Given the description of an element on the screen output the (x, y) to click on. 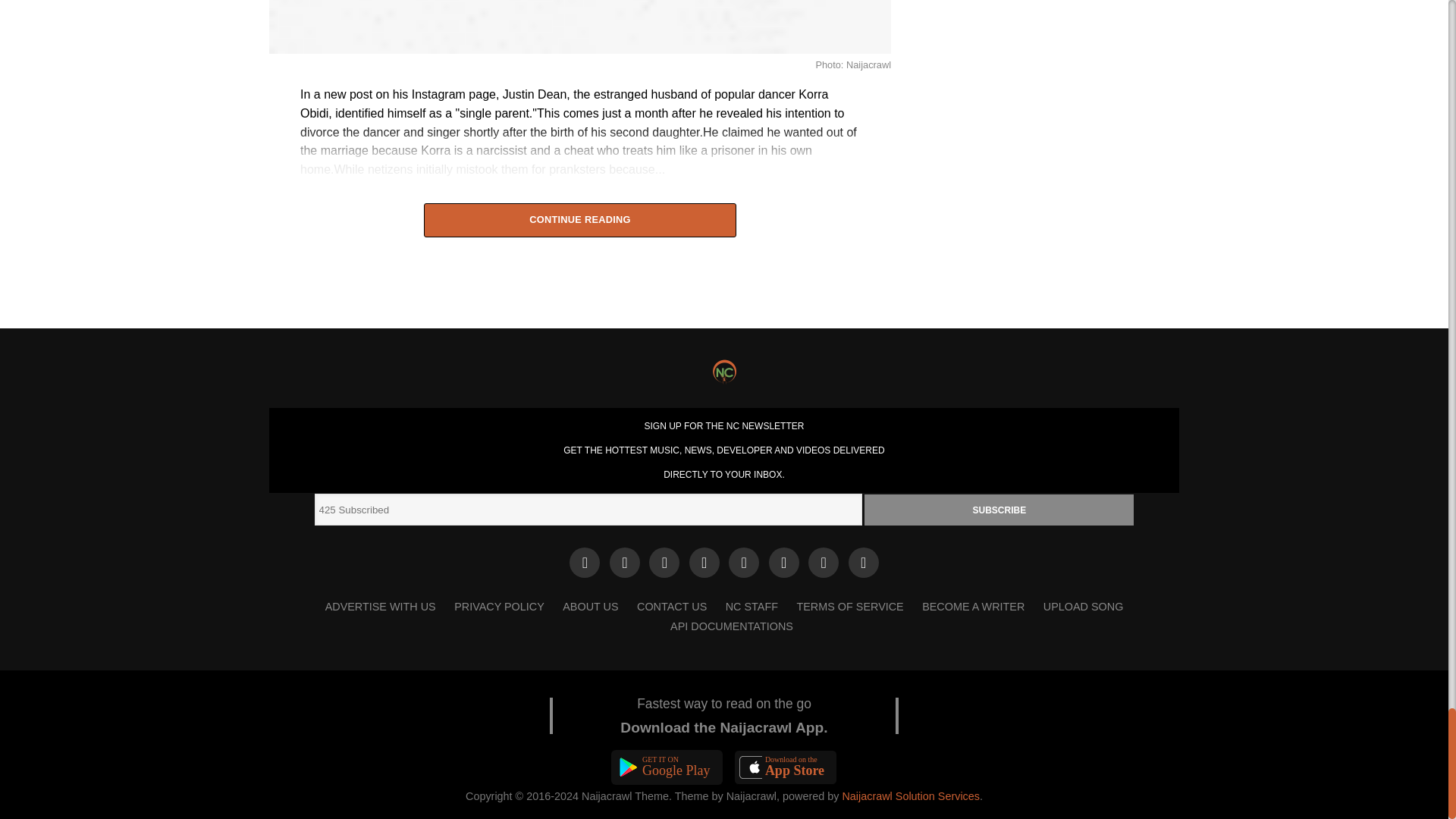
Google Play (667, 767)
Subscribe (999, 509)
App Store (785, 767)
